Given the description of an element on the screen output the (x, y) to click on. 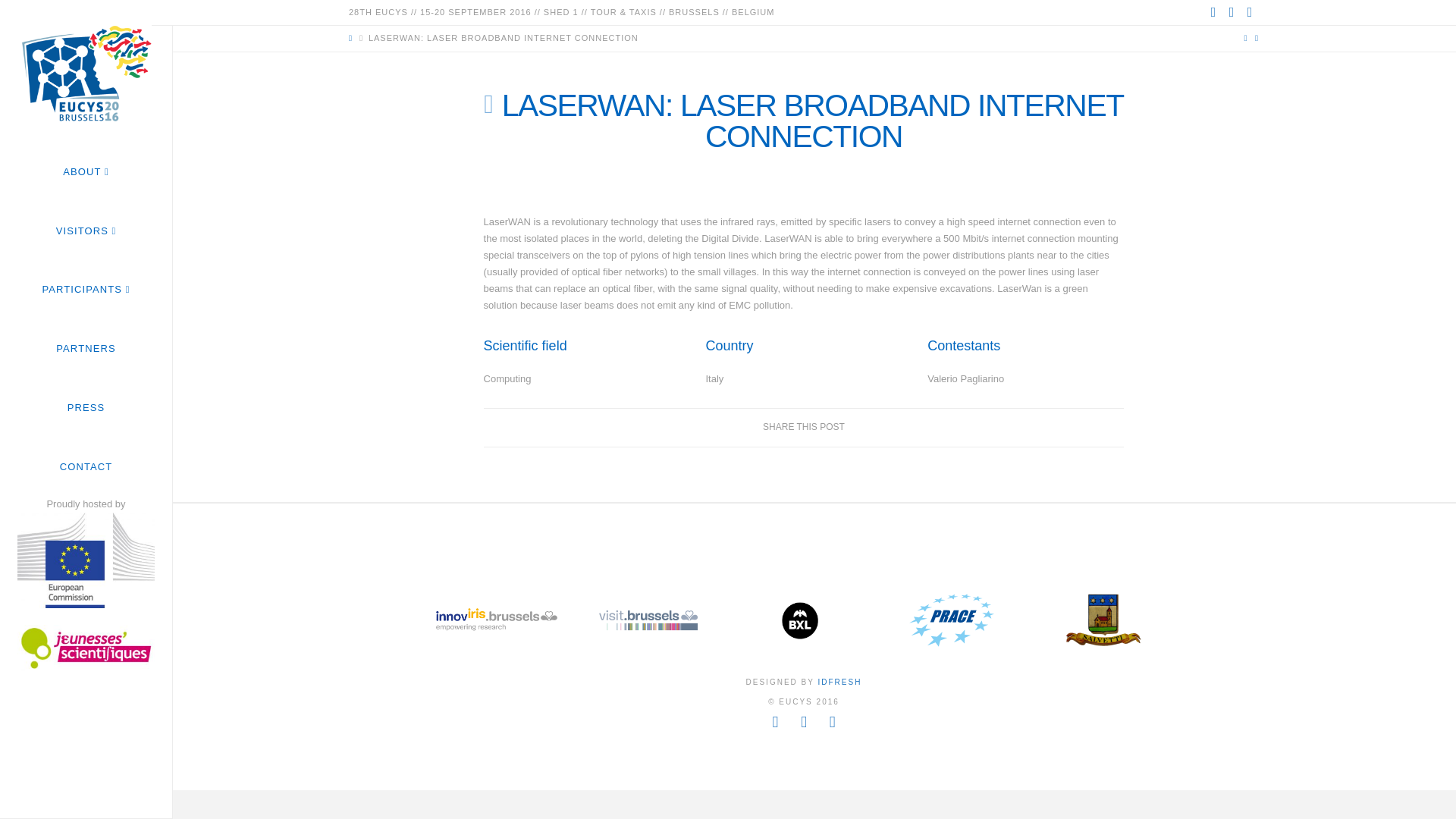
innoviris (496, 620)
ABOUT (85, 171)
visit Brussels (647, 620)
Prace (952, 620)
Ville de Bruxelles (799, 620)
15-20 September 2016, Shed 1, Tour (85, 71)
PARTICIPANTS (85, 289)
CONTACT (85, 466)
PRESS (85, 406)
PARTNERS (85, 348)
VISITORS (85, 230)
